Given the description of an element on the screen output the (x, y) to click on. 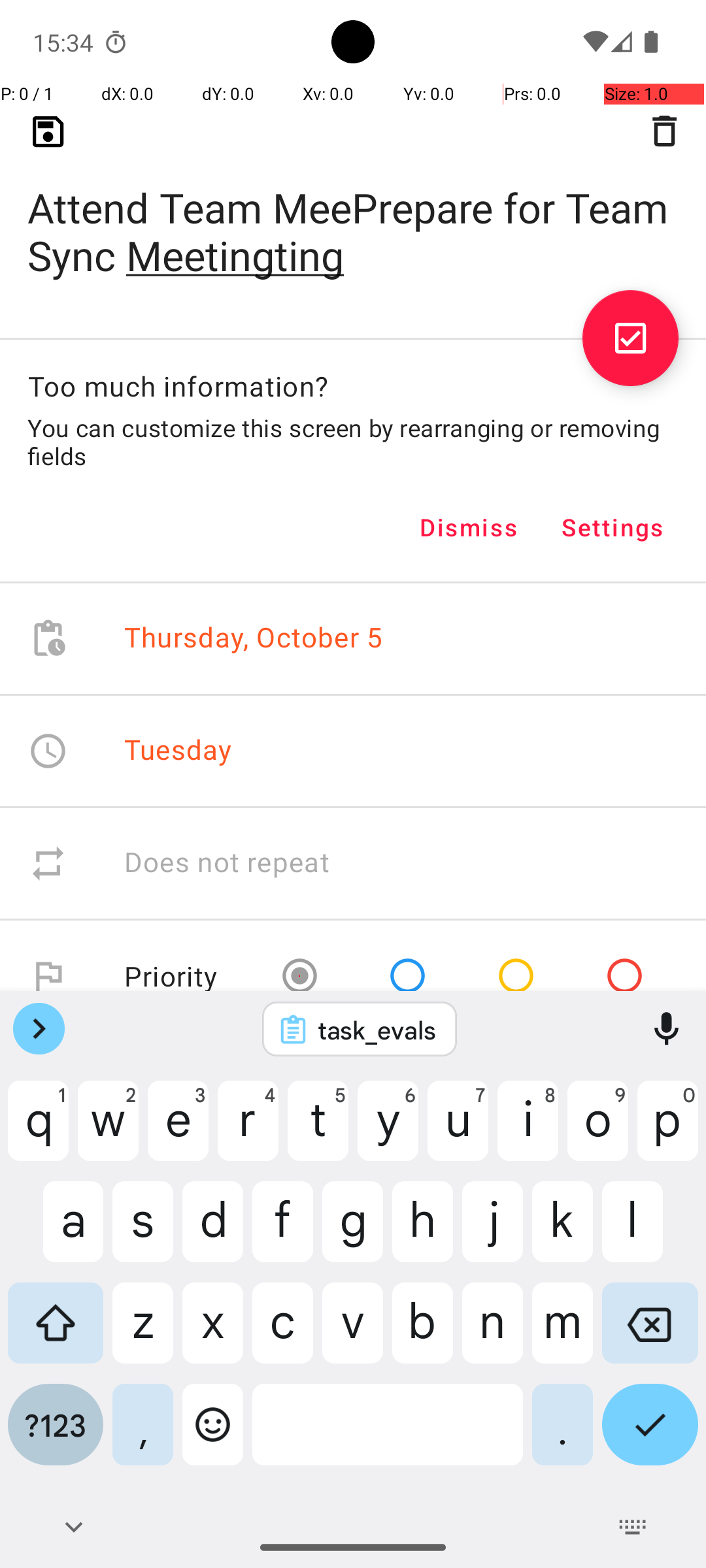
Attend Team MeePrepare for Team Sync Meetingting Element type: android.widget.EditText (353, 210)
Thursday, October 5 Element type: android.widget.TextView (253, 638)
